Given the description of an element on the screen output the (x, y) to click on. 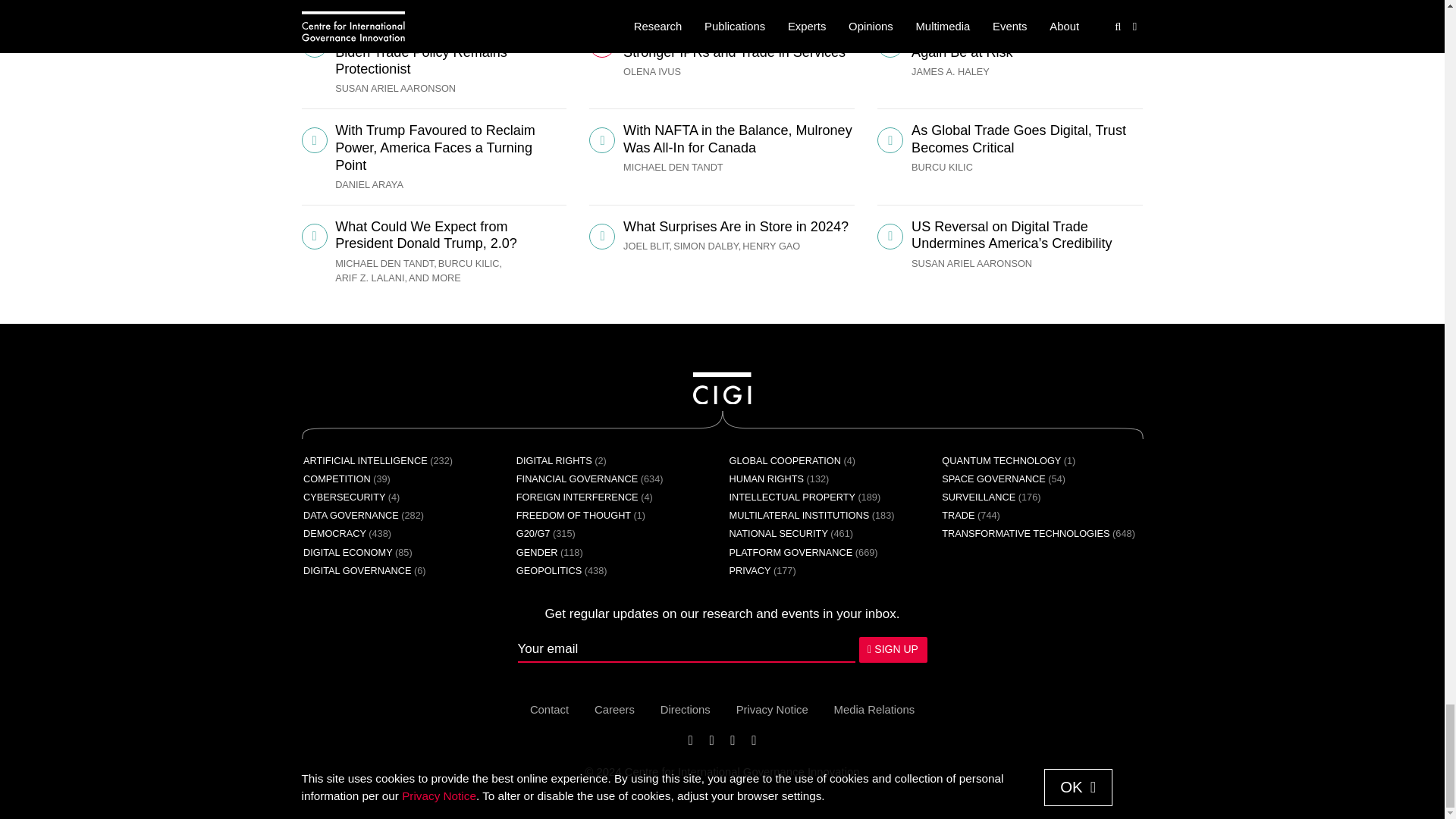
Newsletter Sign Up (721, 649)
